Given the description of an element on the screen output the (x, y) to click on. 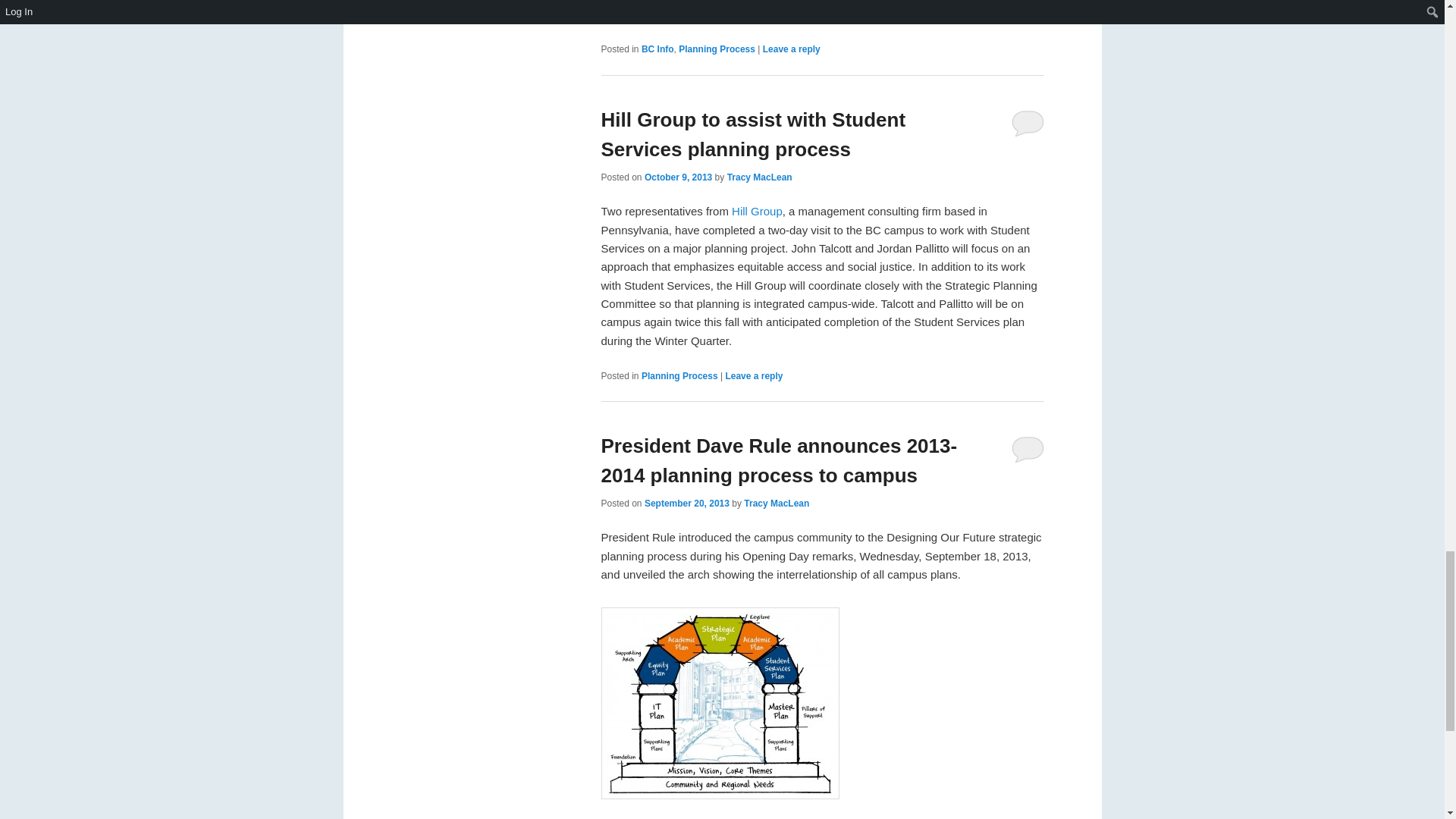
View all posts by Tracy MacLean (759, 176)
1:57 pm (678, 176)
10:30 am (687, 502)
View all posts by Tracy MacLean (776, 502)
Hill Group, Inc (757, 210)
